Given the description of an element on the screen output the (x, y) to click on. 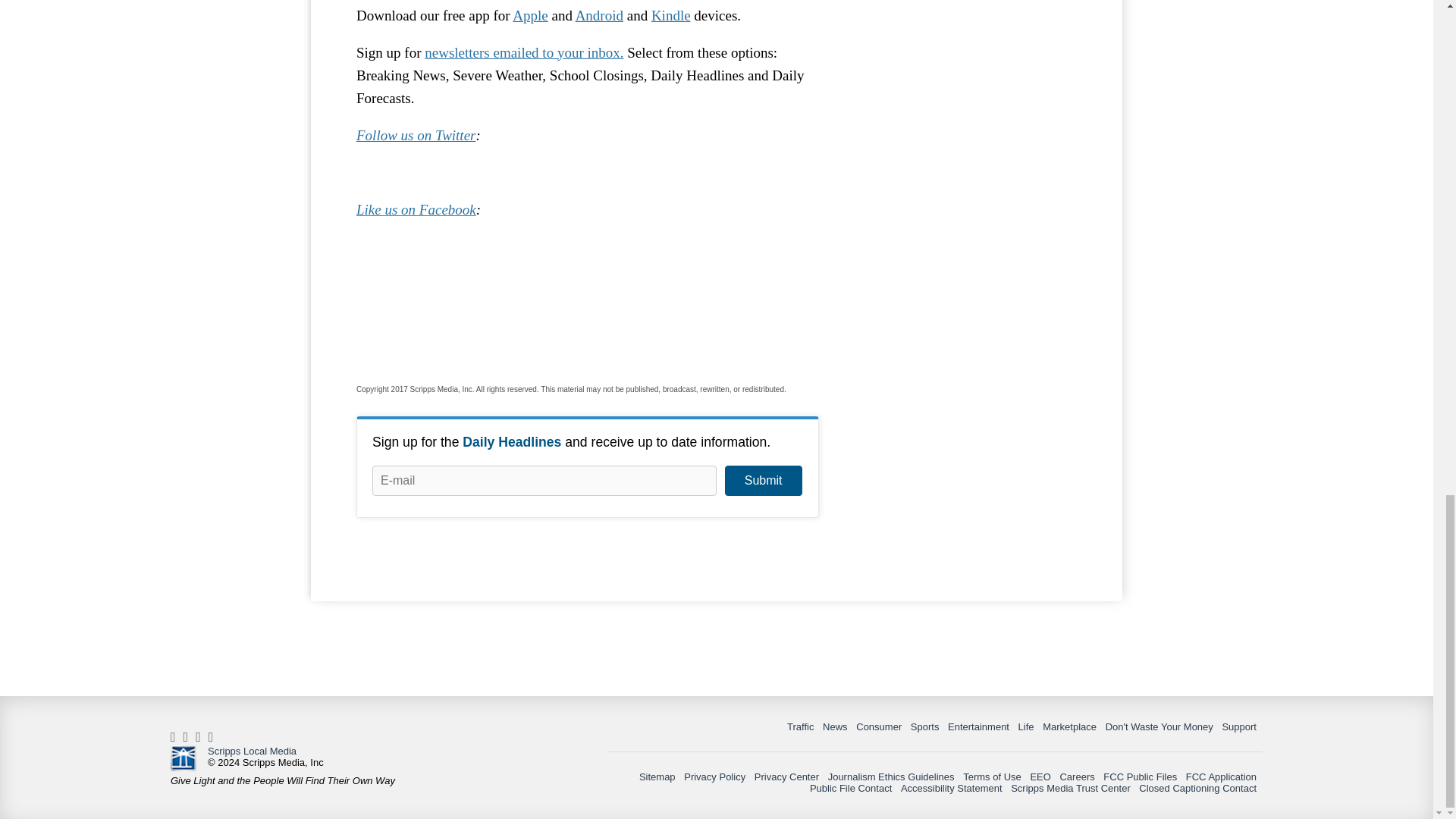
Submit (763, 481)
